Given the description of an element on the screen output the (x, y) to click on. 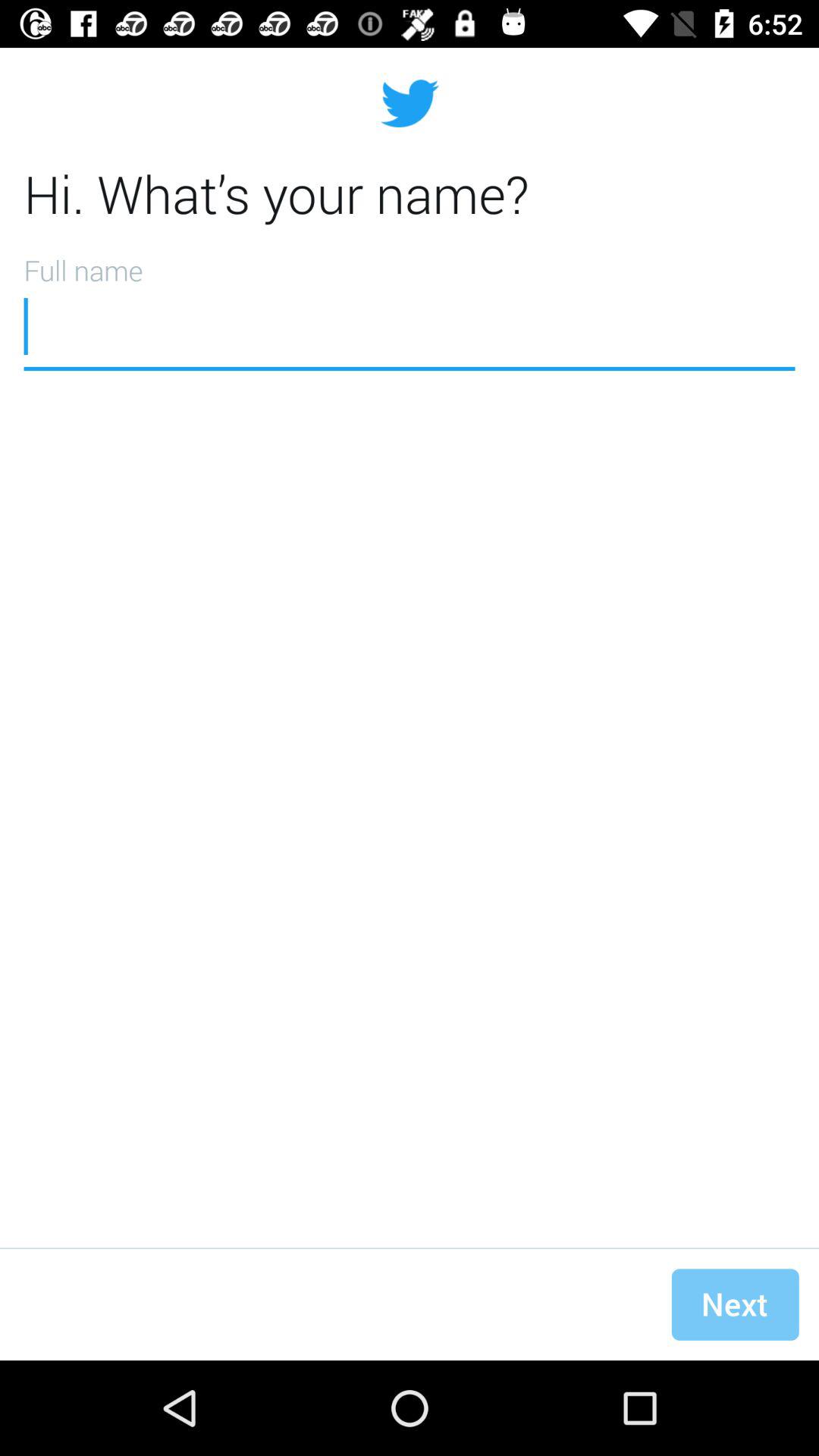
enter full name (409, 307)
